Given the description of an element on the screen output the (x, y) to click on. 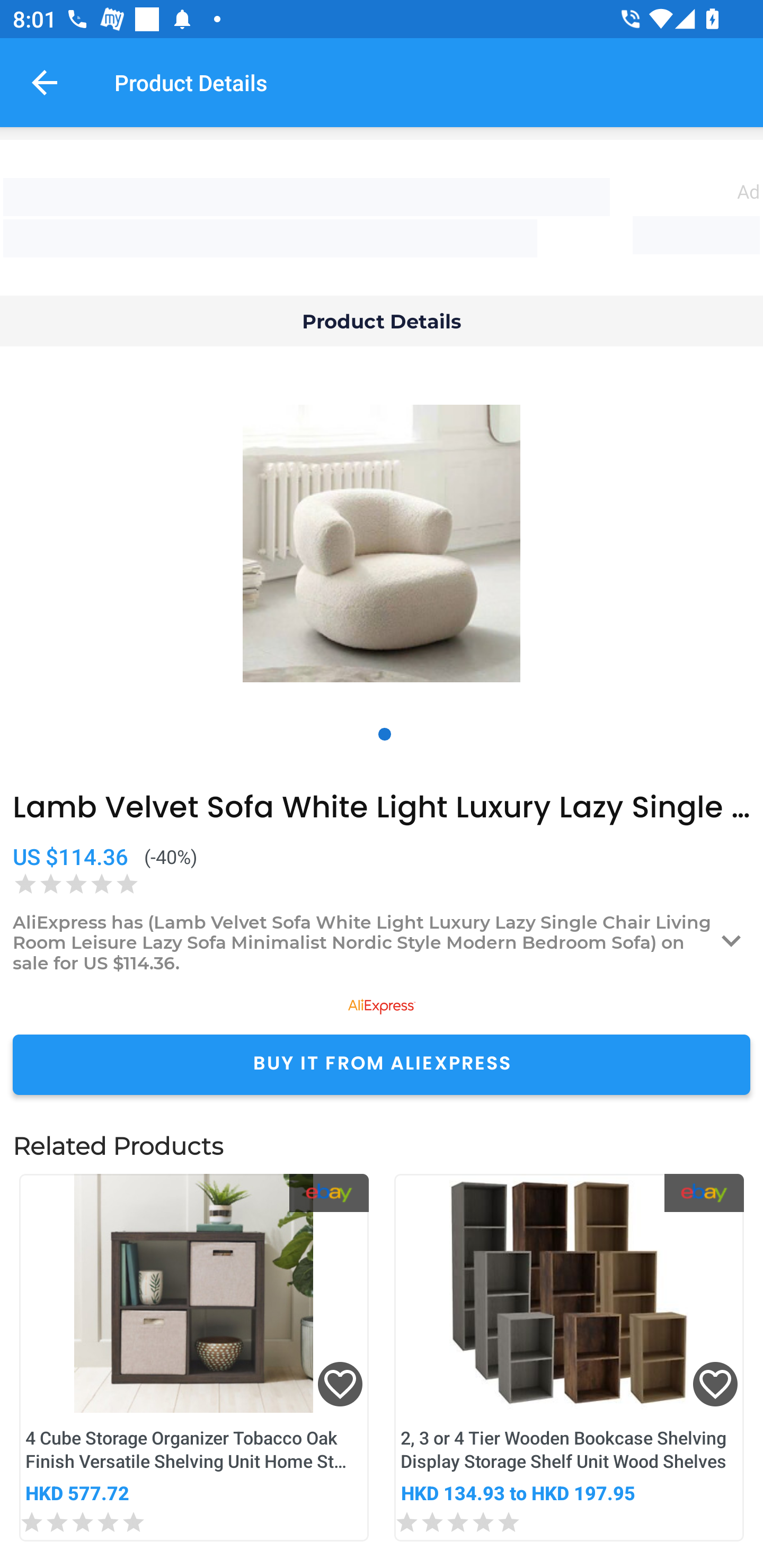
Navigate up (44, 82)
BUY IT FROM ALIEXPRESS (381, 1064)
